Given the description of an element on the screen output the (x, y) to click on. 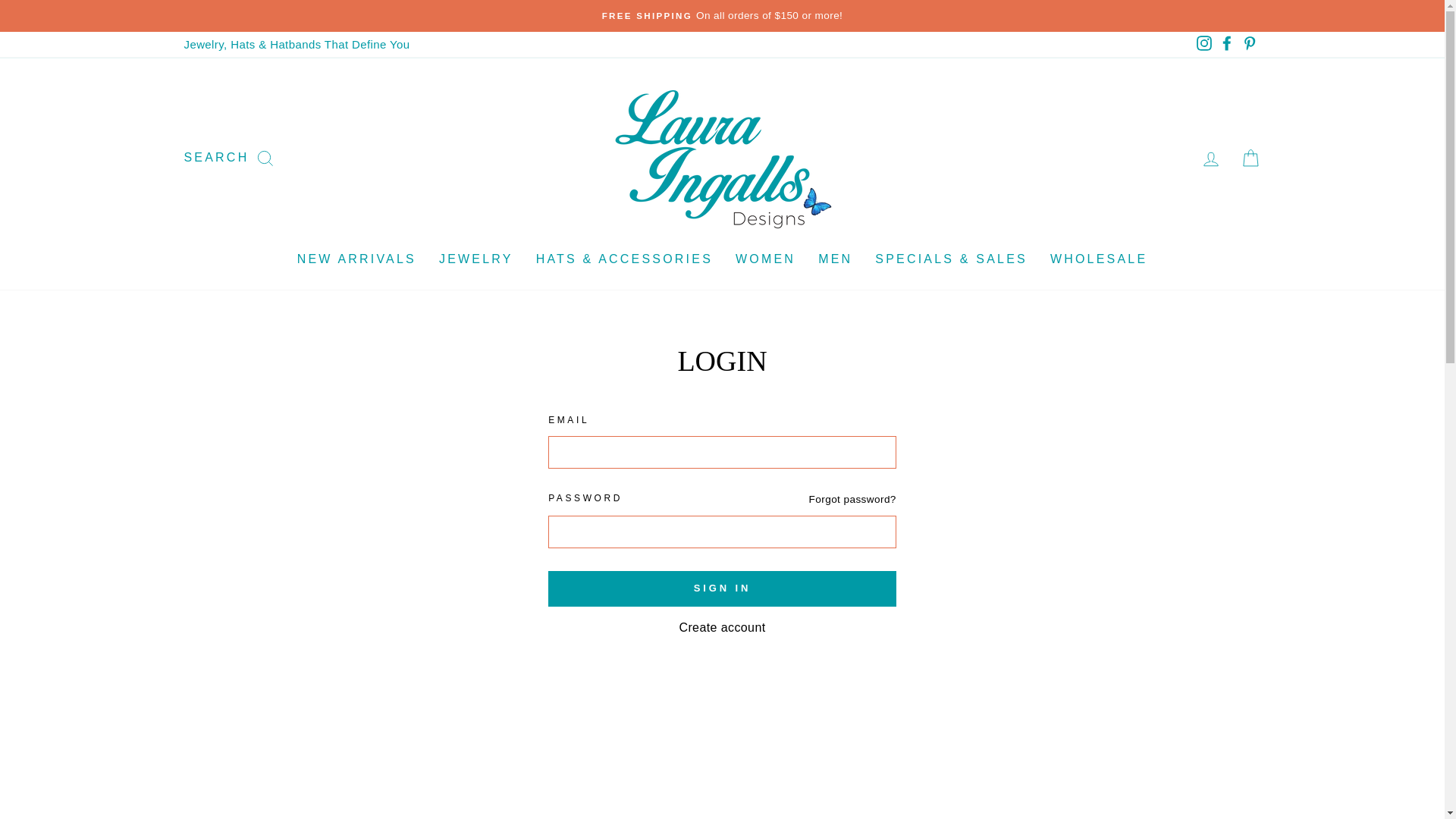
Shop Laura Ingalls Designs on Pinterest (1248, 44)
Shop Laura Ingalls Designs on Instagram (1203, 44)
Shop Laura Ingalls Designs on Facebook (1225, 44)
